Given the description of an element on the screen output the (x, y) to click on. 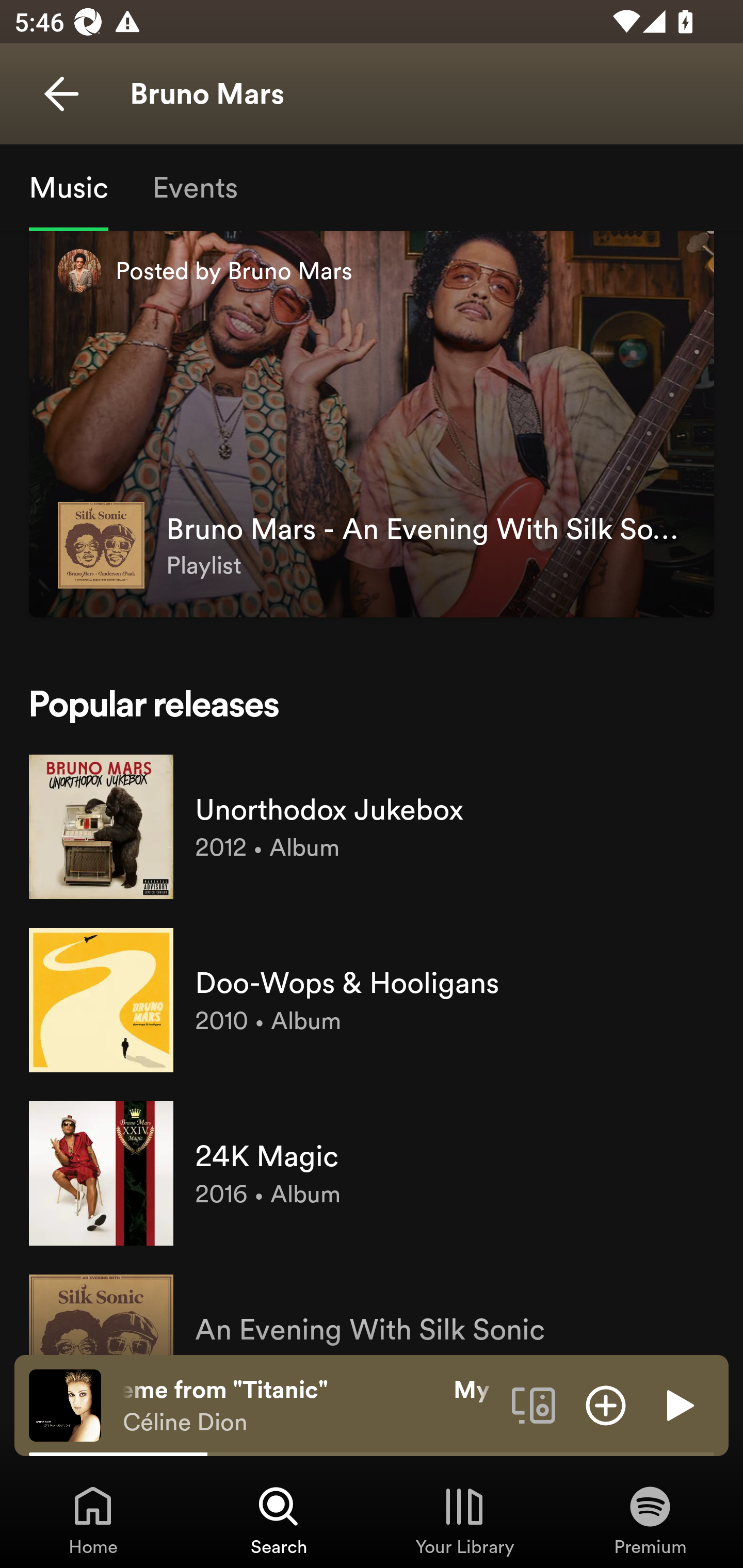
Back (60, 93)
Events (194, 187)
Unorthodox Jukebox 2012 • Album (371, 827)
Doo-Wops & Hooligans 2010 • Album (371, 1000)
24K Magic 2016 • Album (371, 1173)
An Evening With Silk Sonic 2021 • Album (371, 1307)
The cover art of the currently playing track (64, 1404)
Connect to a device. Opens the devices menu (533, 1404)
Add item (605, 1404)
Play (677, 1404)
Home, Tab 1 of 4 Home Home (92, 1519)
Search, Tab 2 of 4 Search Search (278, 1519)
Your Library, Tab 3 of 4 Your Library Your Library (464, 1519)
Premium, Tab 4 of 4 Premium Premium (650, 1519)
